Given the description of an element on the screen output the (x, y) to click on. 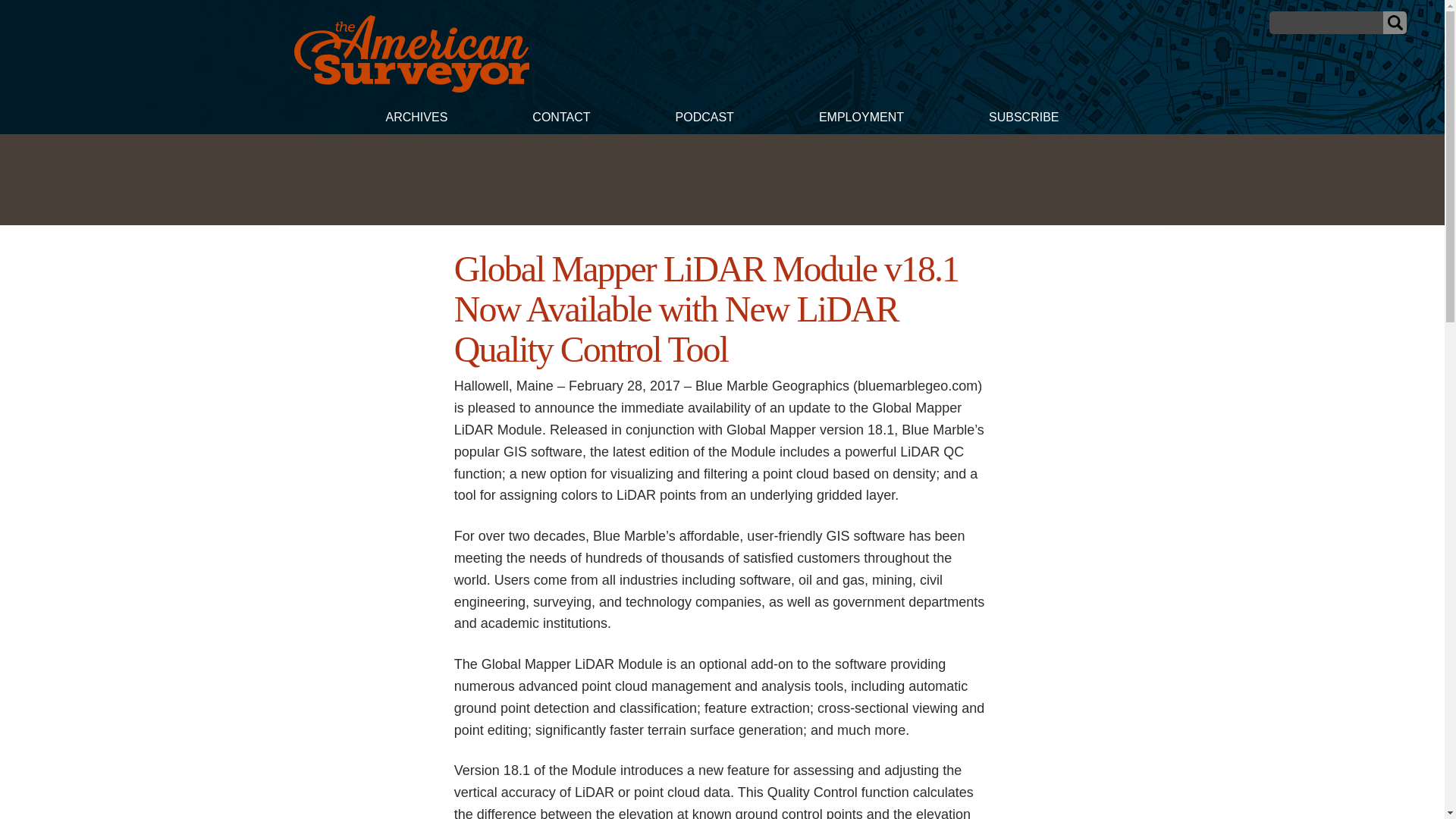
EMPLOYMENT (861, 119)
Submit (1394, 22)
Submit (1394, 22)
ARCHIVES (415, 119)
Search for: (1326, 22)
CONTACT (560, 119)
PODCAST (704, 119)
Submit (1394, 22)
The American Surveyor (411, 88)
The American Surveyor (411, 53)
3rd party ad content (721, 179)
SUBSCRIBE (1024, 119)
